Given the description of an element on the screen output the (x, y) to click on. 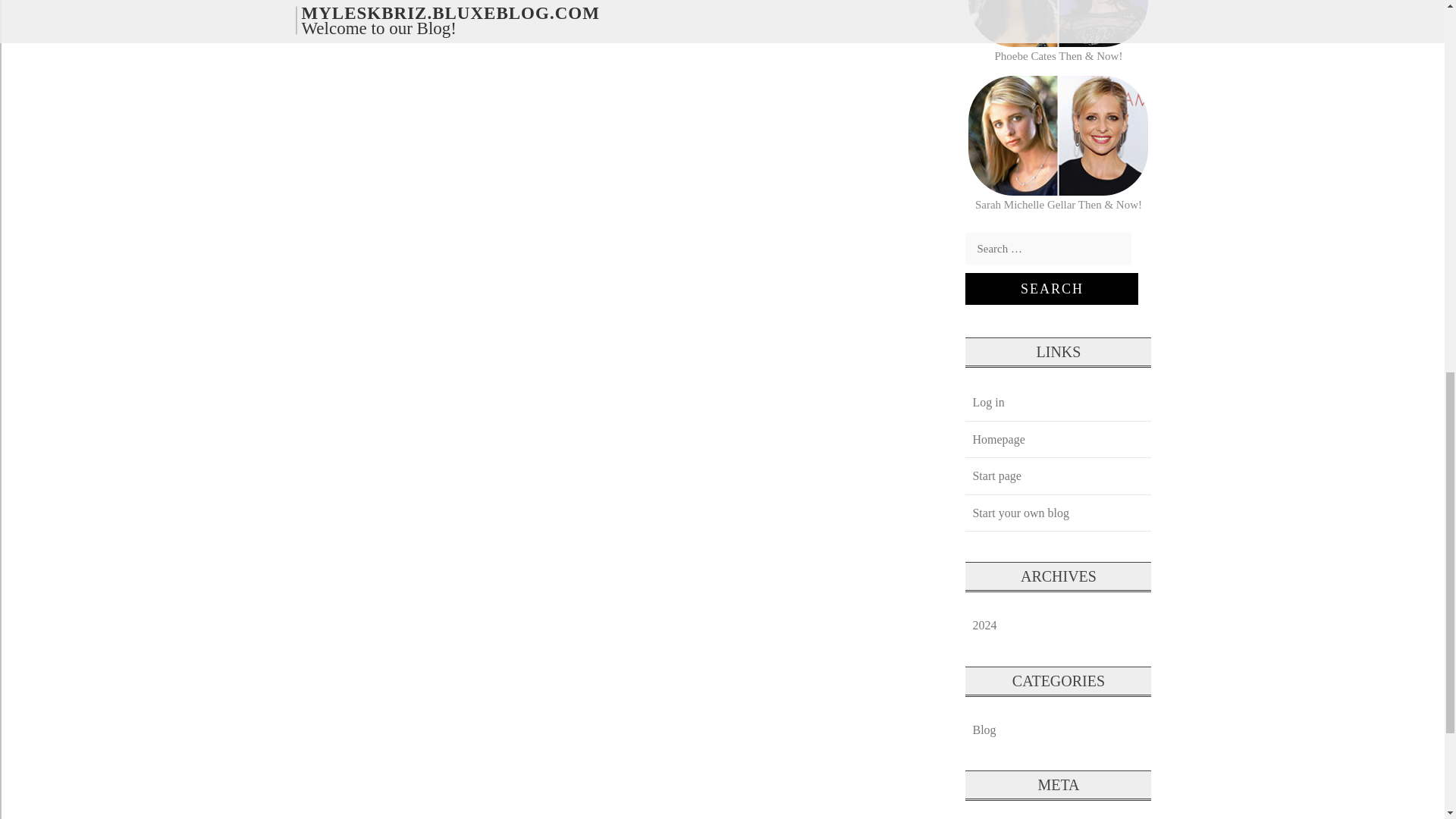
Search (1051, 288)
Blog (984, 729)
Start your own blog (1020, 512)
Search (1051, 288)
Homepage (997, 438)
Log in (987, 402)
2024 (984, 624)
Start page (996, 475)
Search (1051, 288)
